Given the description of an element on the screen output the (x, y) to click on. 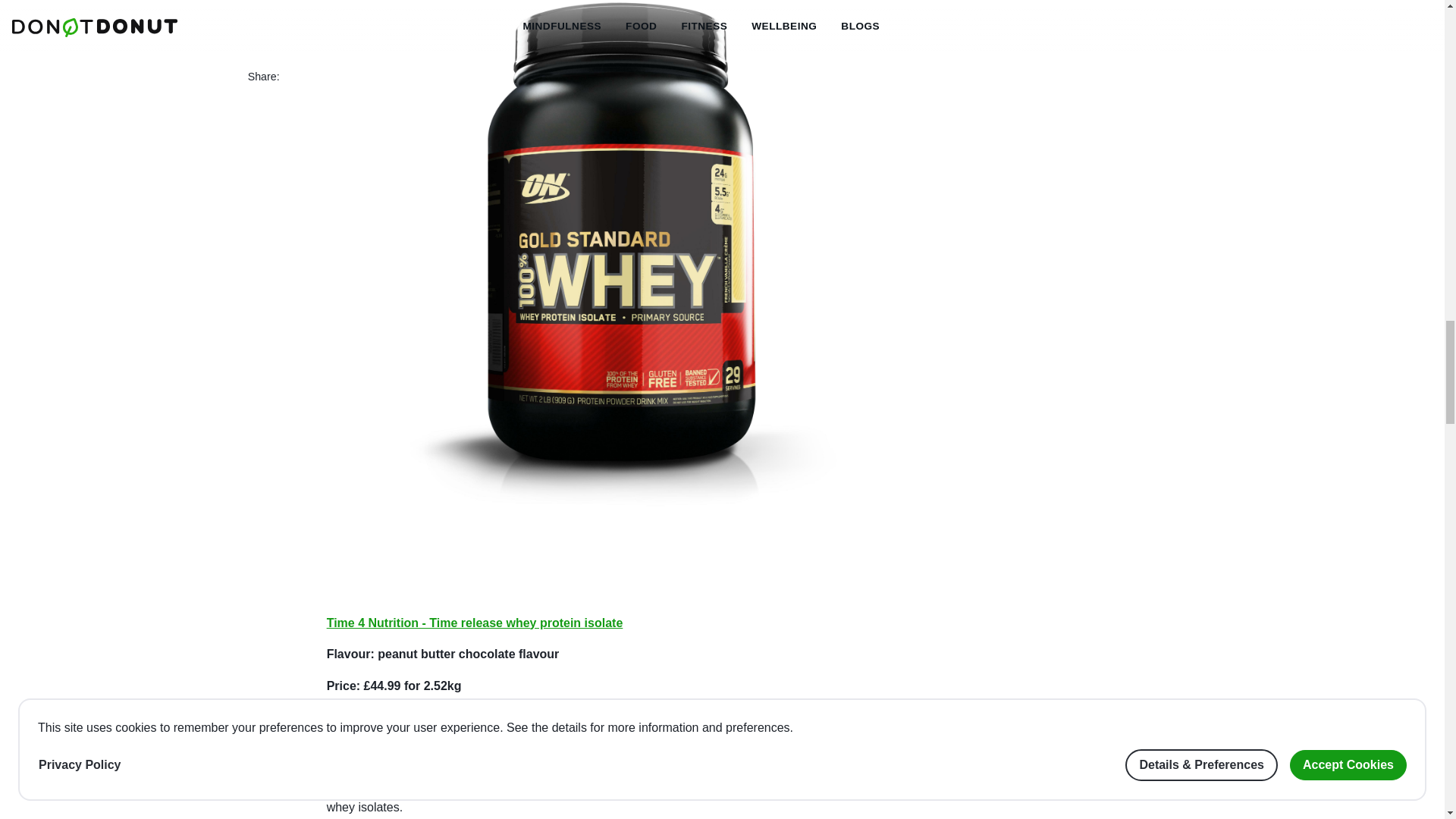
Time 4 Nutrition - Time release whey protein isolate (474, 622)
